Given the description of an element on the screen output the (x, y) to click on. 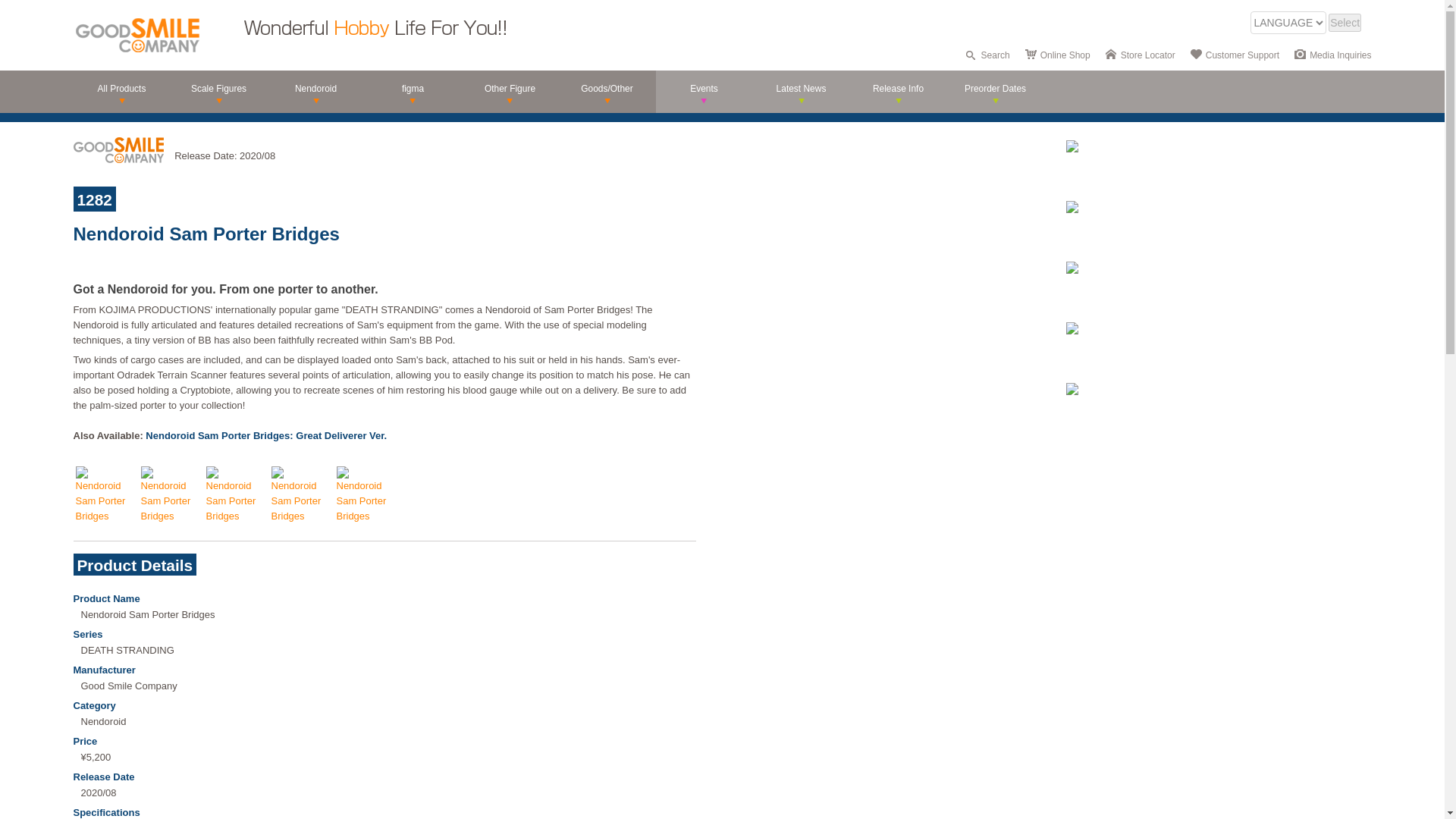
Latest News (800, 91)
Scale Figures (218, 91)
Search (995, 54)
Select (1344, 22)
Other Figure (509, 91)
Nendoroid (315, 91)
Online Shop (1065, 54)
Events (703, 91)
Media Inquiries (1339, 54)
Store Locator (1147, 54)
All Products (121, 91)
figma (412, 91)
Release Info (897, 91)
Preorder Dates (994, 91)
Select (1344, 22)
